Given the description of an element on the screen output the (x, y) to click on. 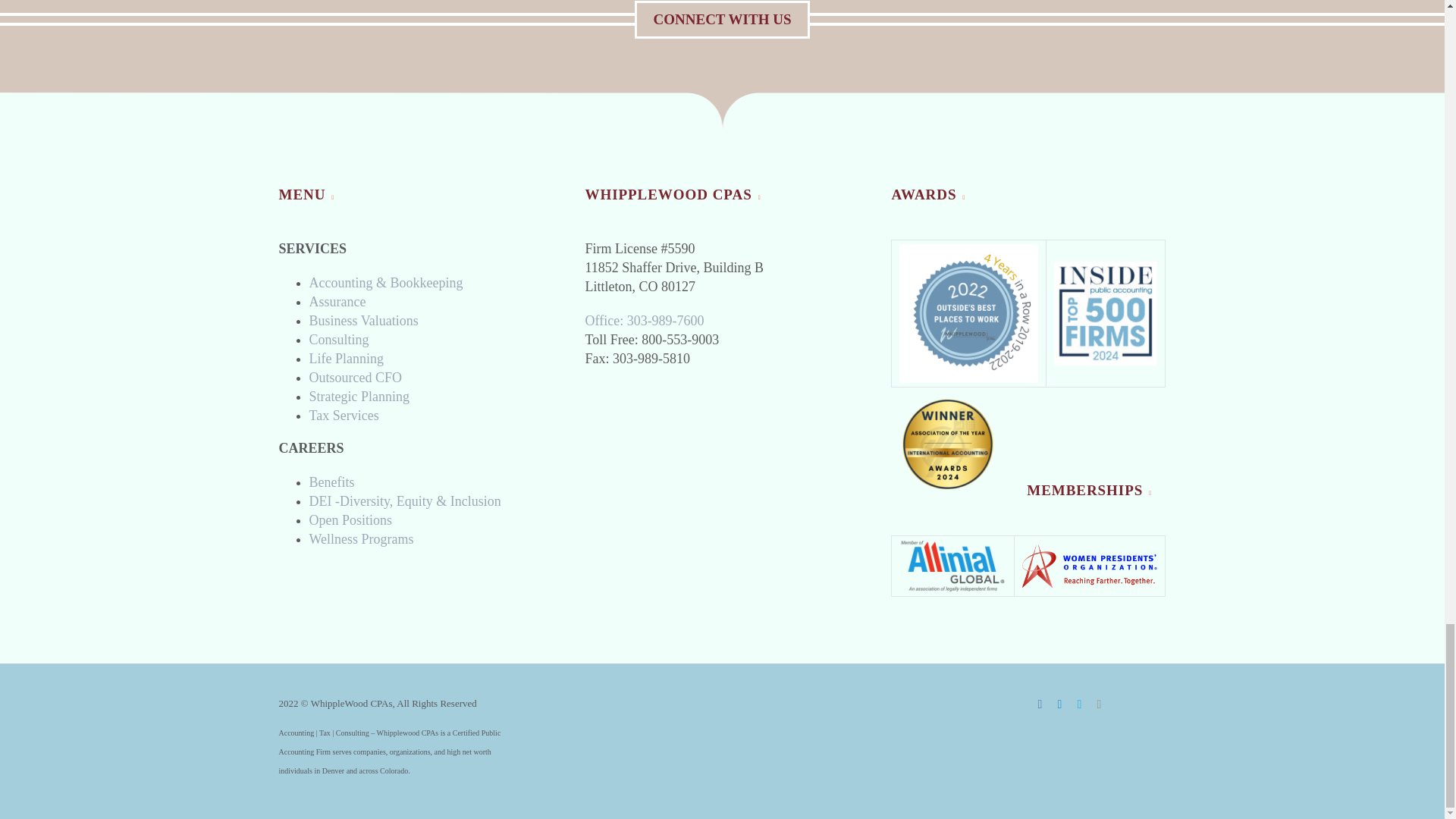
Facebook (1039, 704)
LinkedIn (1059, 704)
Instagram (1099, 704)
Twitter (1080, 704)
